Given the description of an element on the screen output the (x, y) to click on. 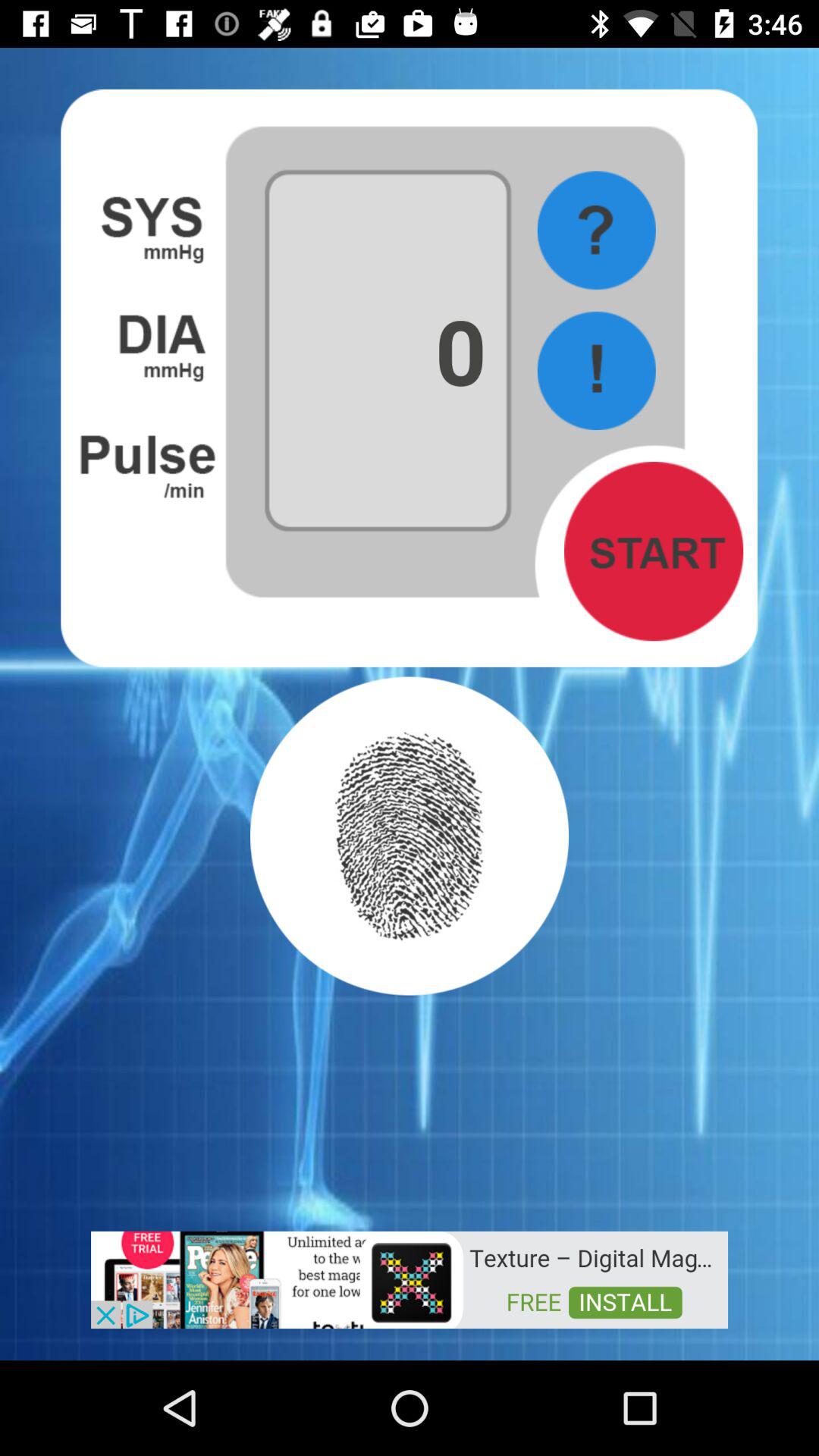
button for more informations (596, 230)
